Given the description of an element on the screen output the (x, y) to click on. 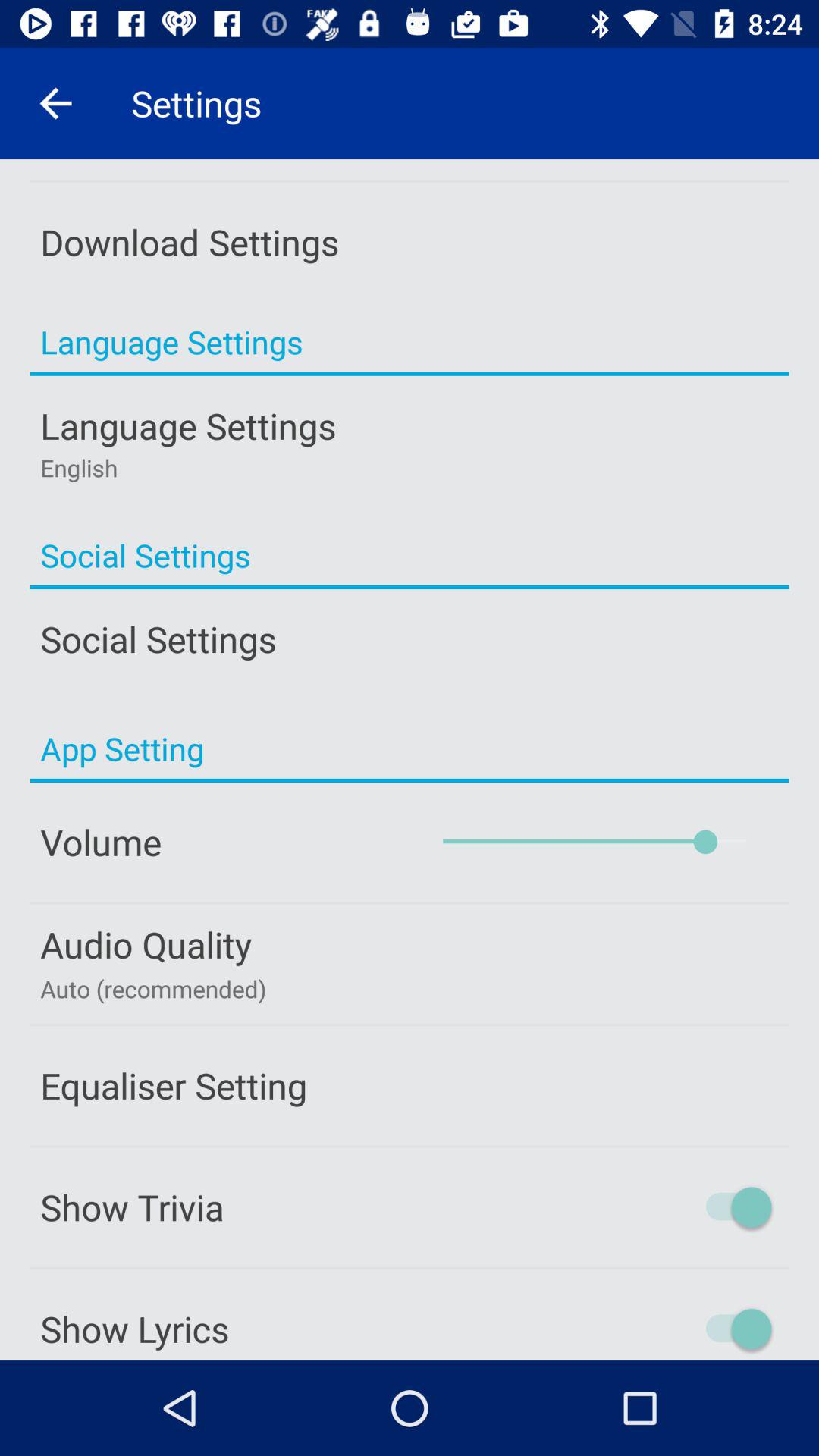
toggle show trivia option (673, 1207)
